Given the description of an element on the screen output the (x, y) to click on. 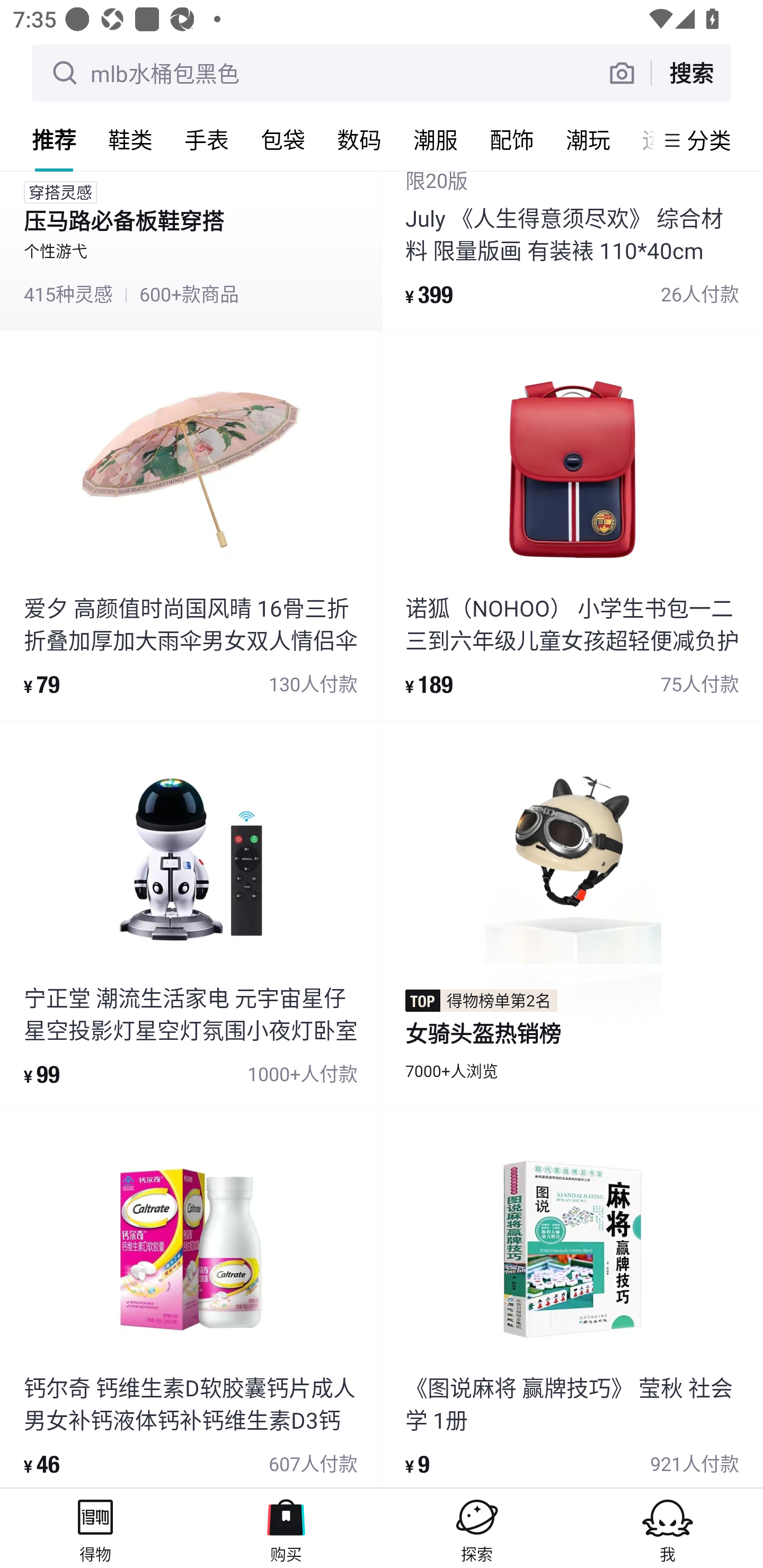
搜索 (690, 72)
推荐 (54, 139)
鞋类 (130, 139)
手表 (206, 139)
包袋 (282, 139)
数码 (359, 139)
潮服 (435, 139)
配饰 (511, 139)
潮玩 (588, 139)
分类 (708, 139)
穿搭灵感 压马路必备板鞋穿搭 个性游弋 415种灵感 # 600+款商品 (190, 250)
得物榜单第2名 女骑头盔热销榜 7000+人浏览 (572, 915)
product_item 《图说麻将 赢牌技巧》 莹秋 社会
学 1册 ¥ 9 921人付款 (572, 1299)
得物 (95, 1528)
购买 (285, 1528)
探索 (476, 1528)
我 (667, 1528)
